Given the description of an element on the screen output the (x, y) to click on. 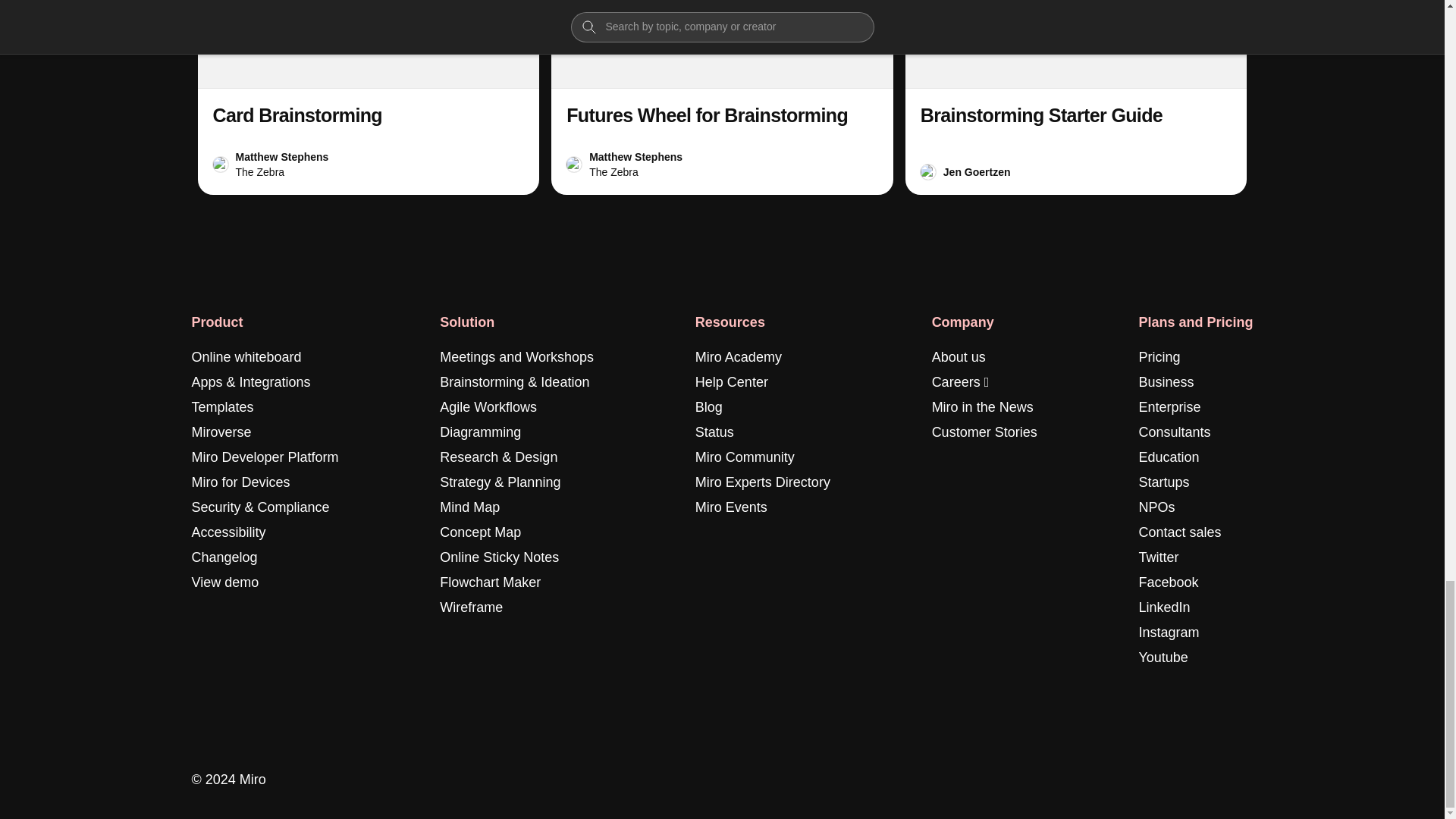
Brainstorming Starter Guide (1040, 115)
Matthew Stephens (281, 156)
Miro Developer Platform (263, 457)
Futures Wheel for Brainstorming (706, 115)
Miroverse (220, 432)
Brainstorming Starter Guide (1076, 97)
Accessibility (227, 532)
Templates (221, 407)
Miro for Devices (239, 482)
Matthew Stephens (635, 156)
Jen Goertzen (976, 171)
Card Brainstorming (296, 115)
Online whiteboard (245, 357)
Futures Wheel for Brainstorming (722, 97)
Card Brainstorming (367, 97)
